Given the description of an element on the screen output the (x, y) to click on. 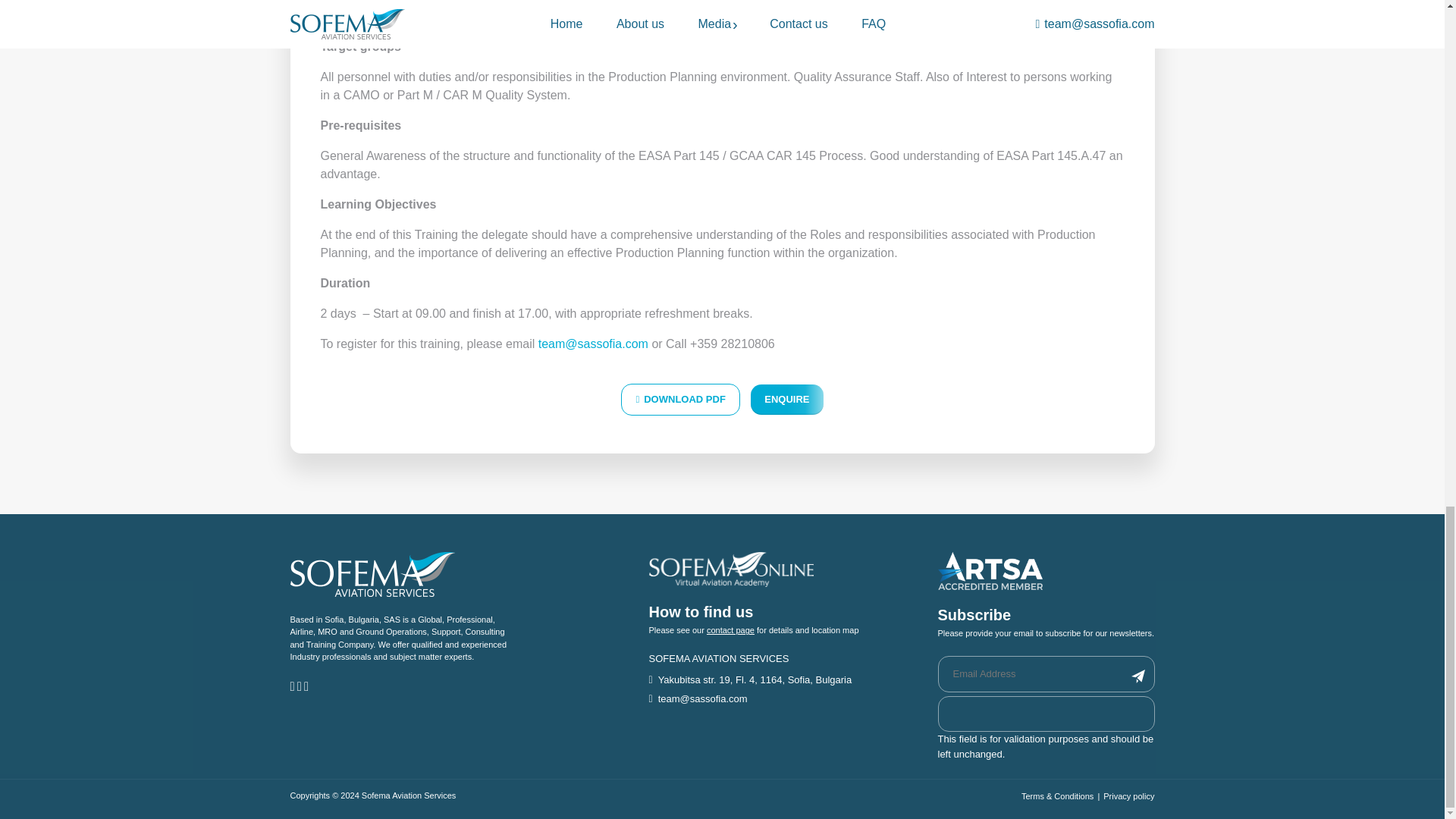
contact page (730, 629)
ENQUIRE (786, 399)
DOWNLOAD PDF (680, 399)
Privacy policy (1128, 796)
